Given the description of an element on the screen output the (x, y) to click on. 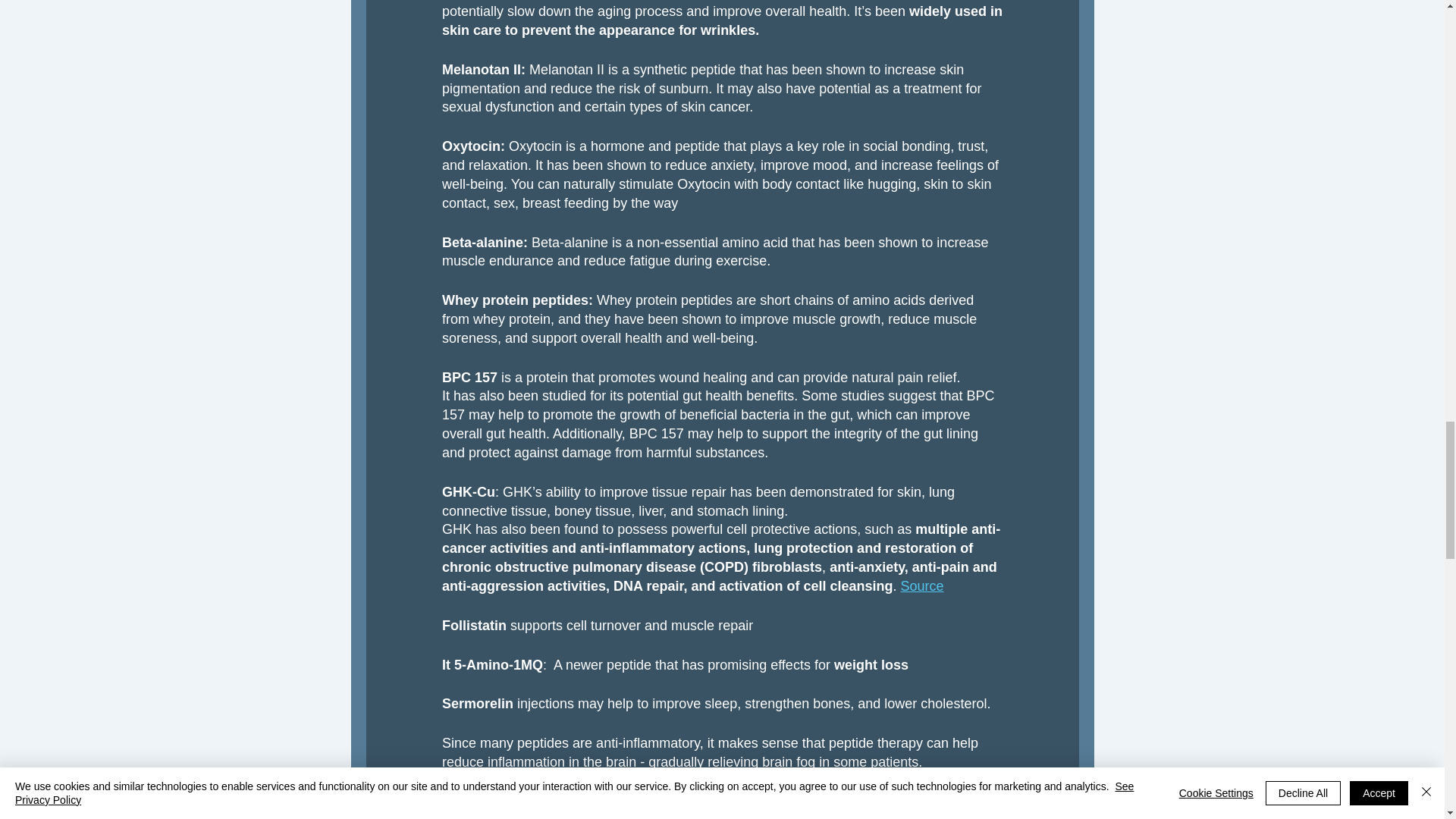
Source (921, 585)
Dihexa (712, 780)
